Given the description of an element on the screen output the (x, y) to click on. 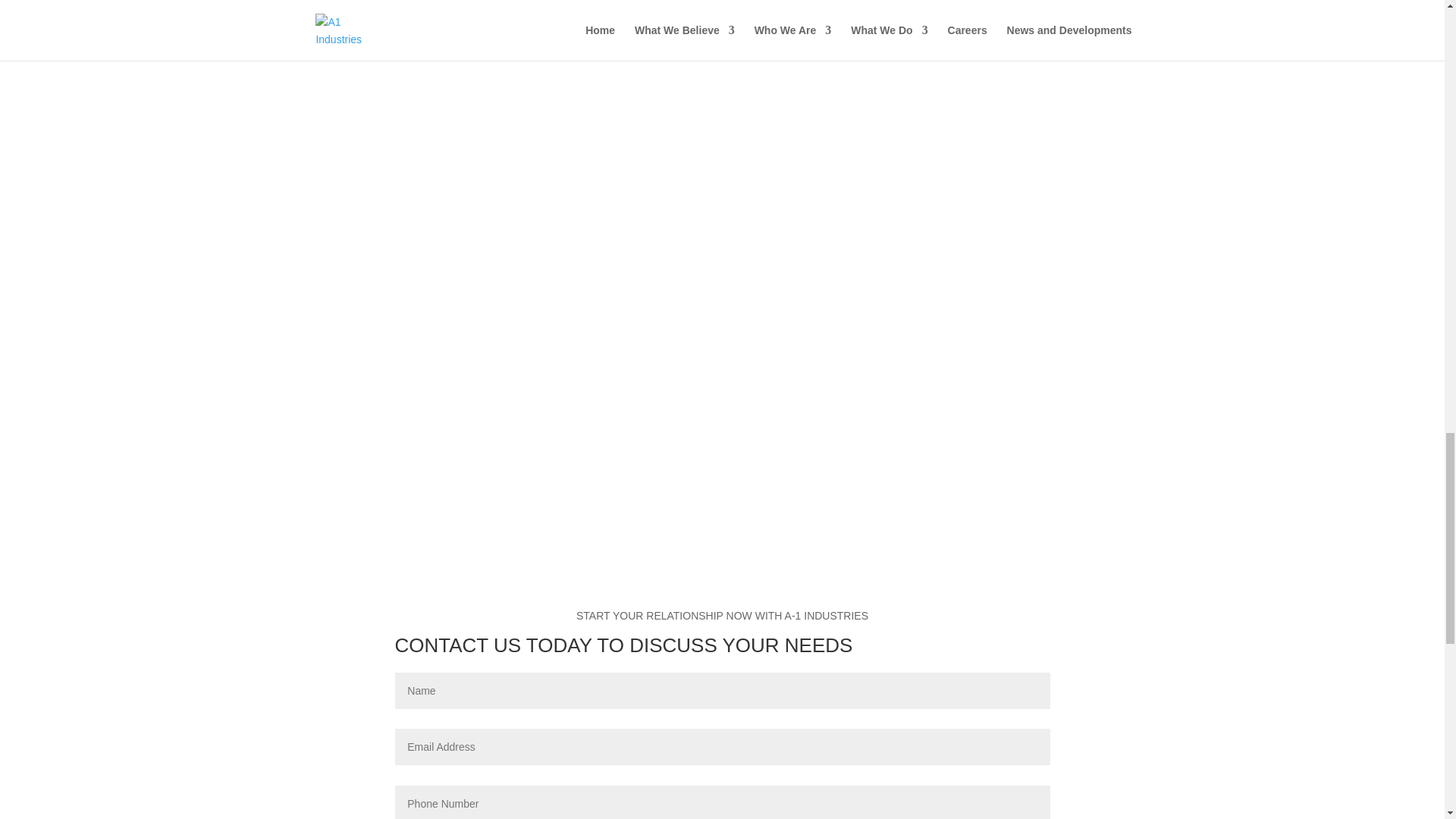
05 CORE VALUES w A1 ICON copy (517, 65)
